Given the description of an element on the screen output the (x, y) to click on. 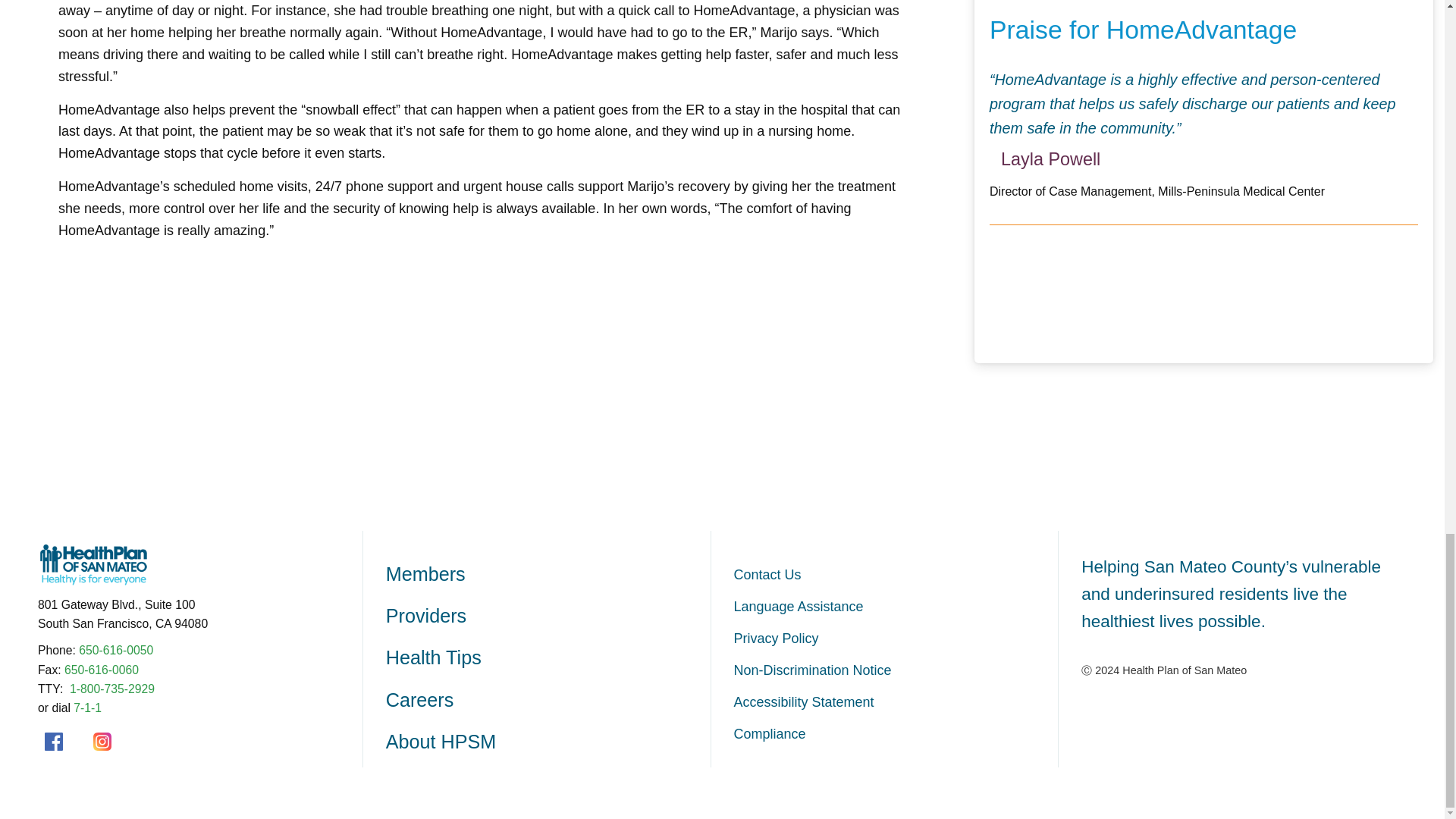
Health Tips (547, 657)
Providers (547, 615)
Members (547, 574)
About HPSM (547, 741)
Careers (547, 700)
